Given the description of an element on the screen output the (x, y) to click on. 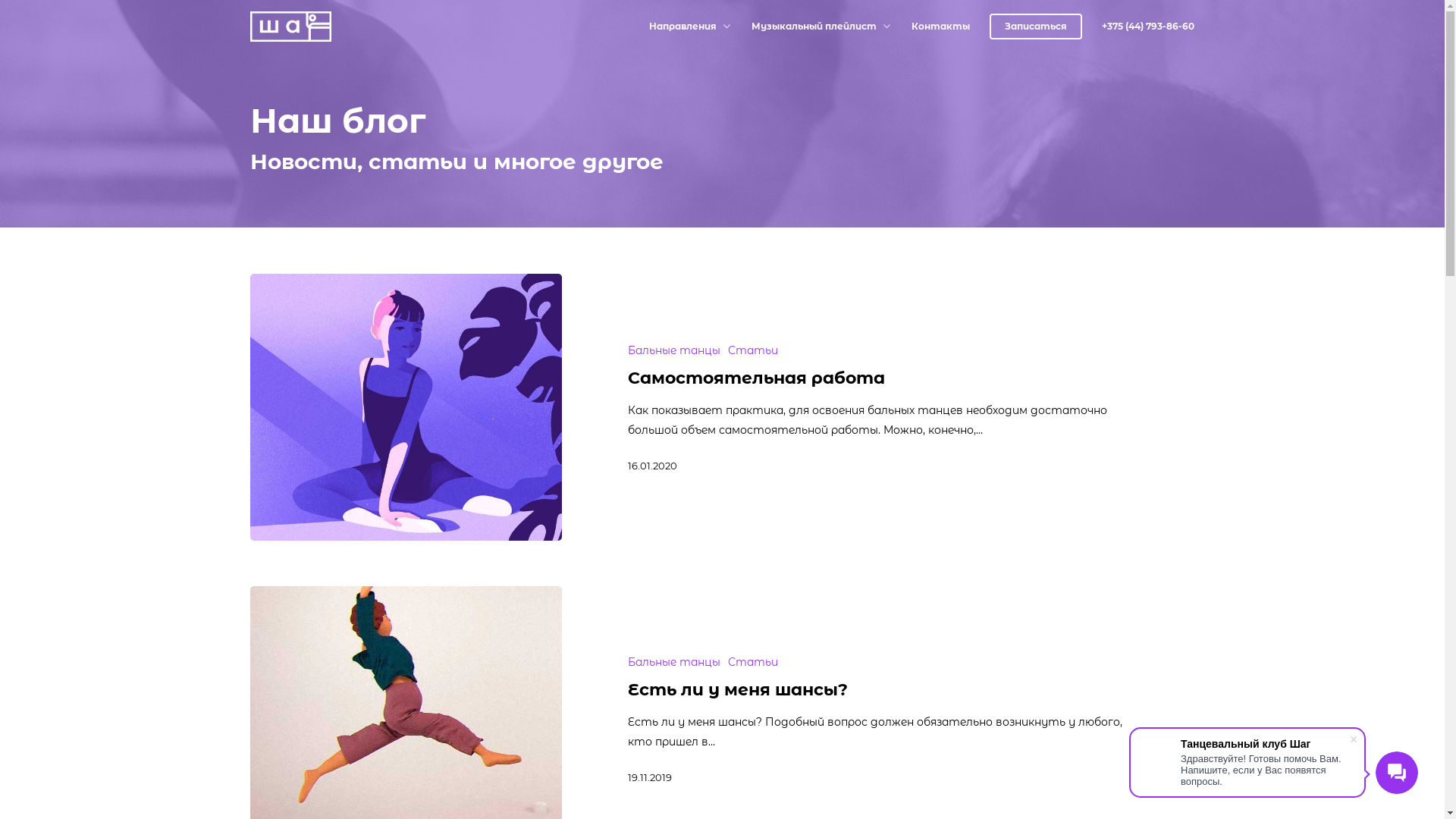
+375 (44) 793-86-60 Element type: text (1147, 26)
